Given the description of an element on the screen output the (x, y) to click on. 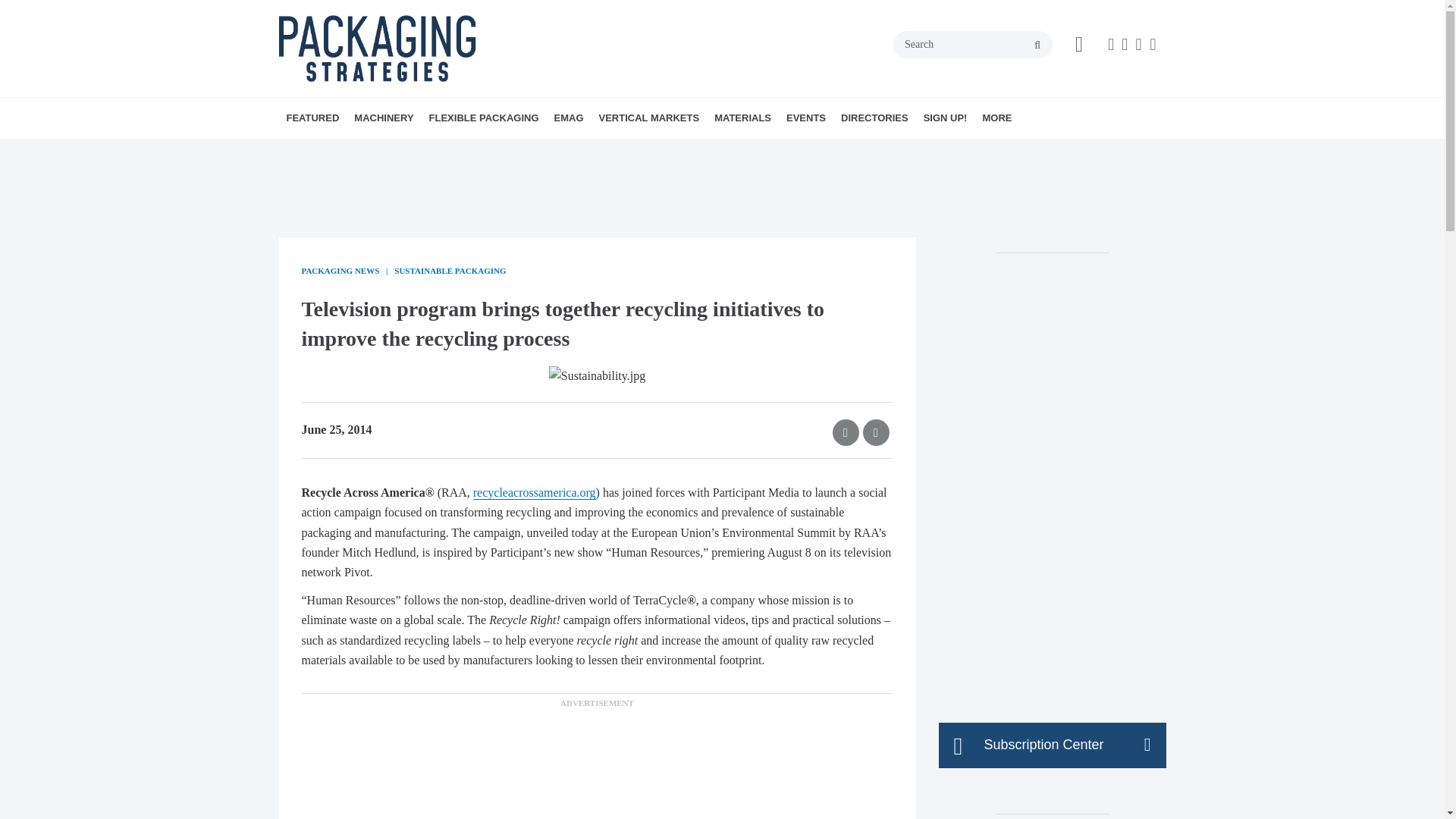
ROBOTICS (488, 150)
PACKAGING PERSPECTIVES PODCASTS (373, 159)
EMAG (568, 117)
LABELING (484, 150)
MACHINERY (383, 117)
CARTONING (458, 150)
BRAND PACKAGING (384, 150)
Search (972, 44)
Search (972, 44)
FLEXIBLE PACKAGING (484, 117)
NEW PACKAGES (395, 150)
search (1037, 45)
PACKAGING NEWS (389, 150)
FEATURED (313, 117)
SUPPLY SIDE (405, 150)
